Given the description of an element on the screen output the (x, y) to click on. 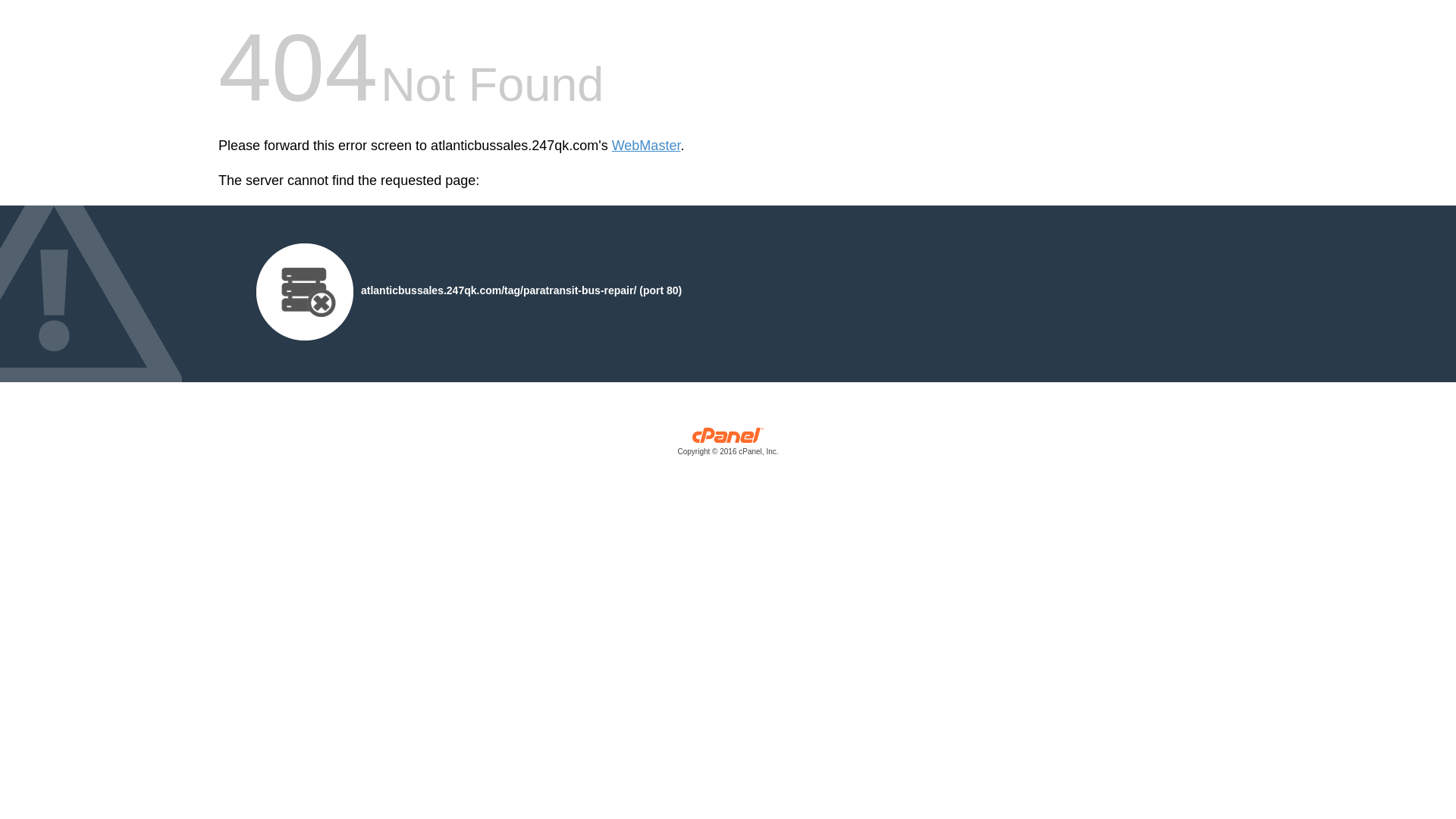
WebMaster Element type: text (645, 145)
